Given the description of an element on the screen output the (x, y) to click on. 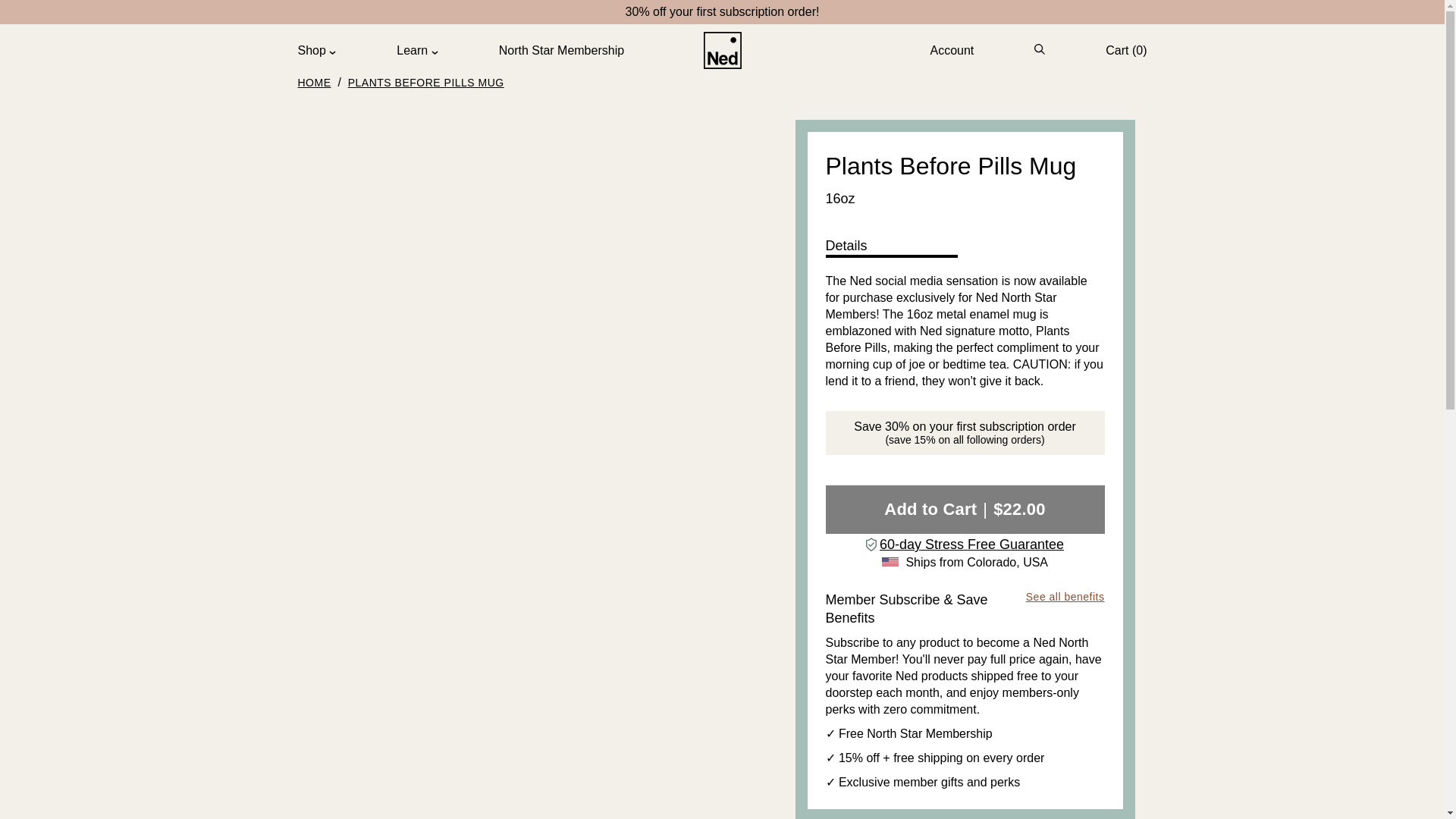
Best Sellers (722, 11)
Shop (316, 50)
